Given the description of an element on the screen output the (x, y) to click on. 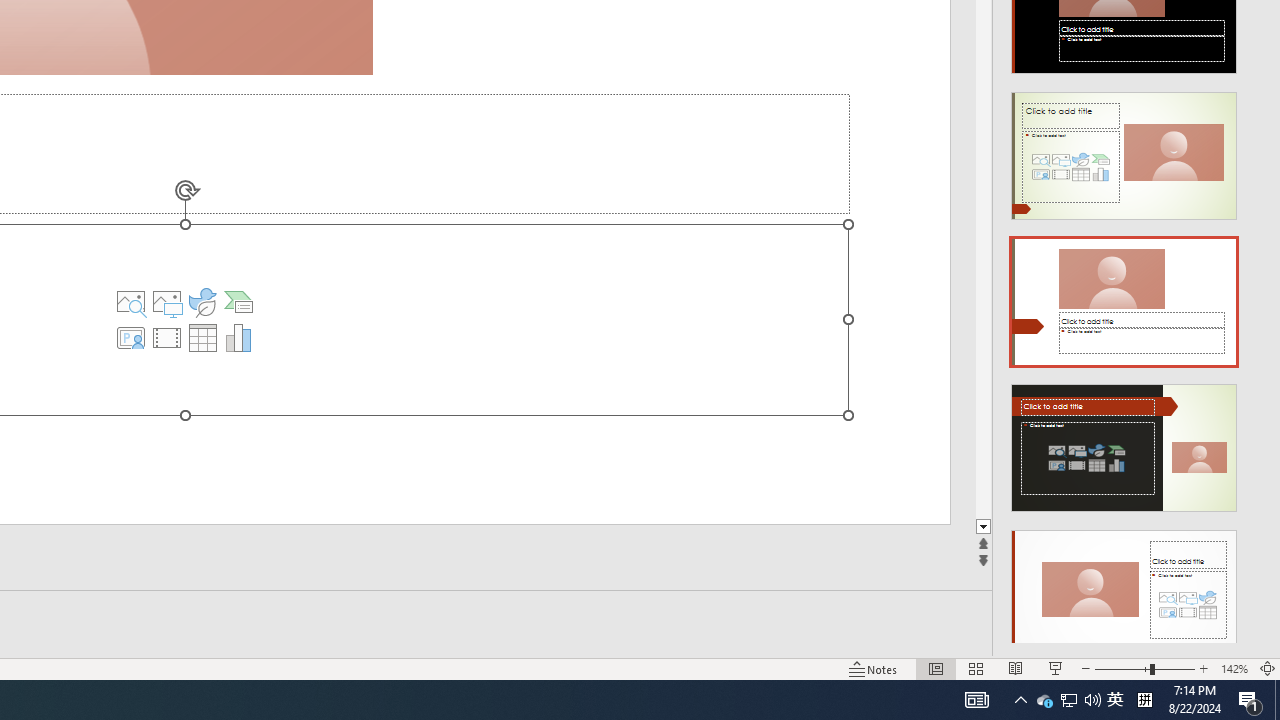
Notes  (874, 668)
Stock Images (131, 301)
Insert Video (167, 337)
Insert a SmartArt Graphic (238, 301)
Insert Table (202, 337)
Slide Sorter (975, 668)
